Given the description of an element on the screen output the (x, y) to click on. 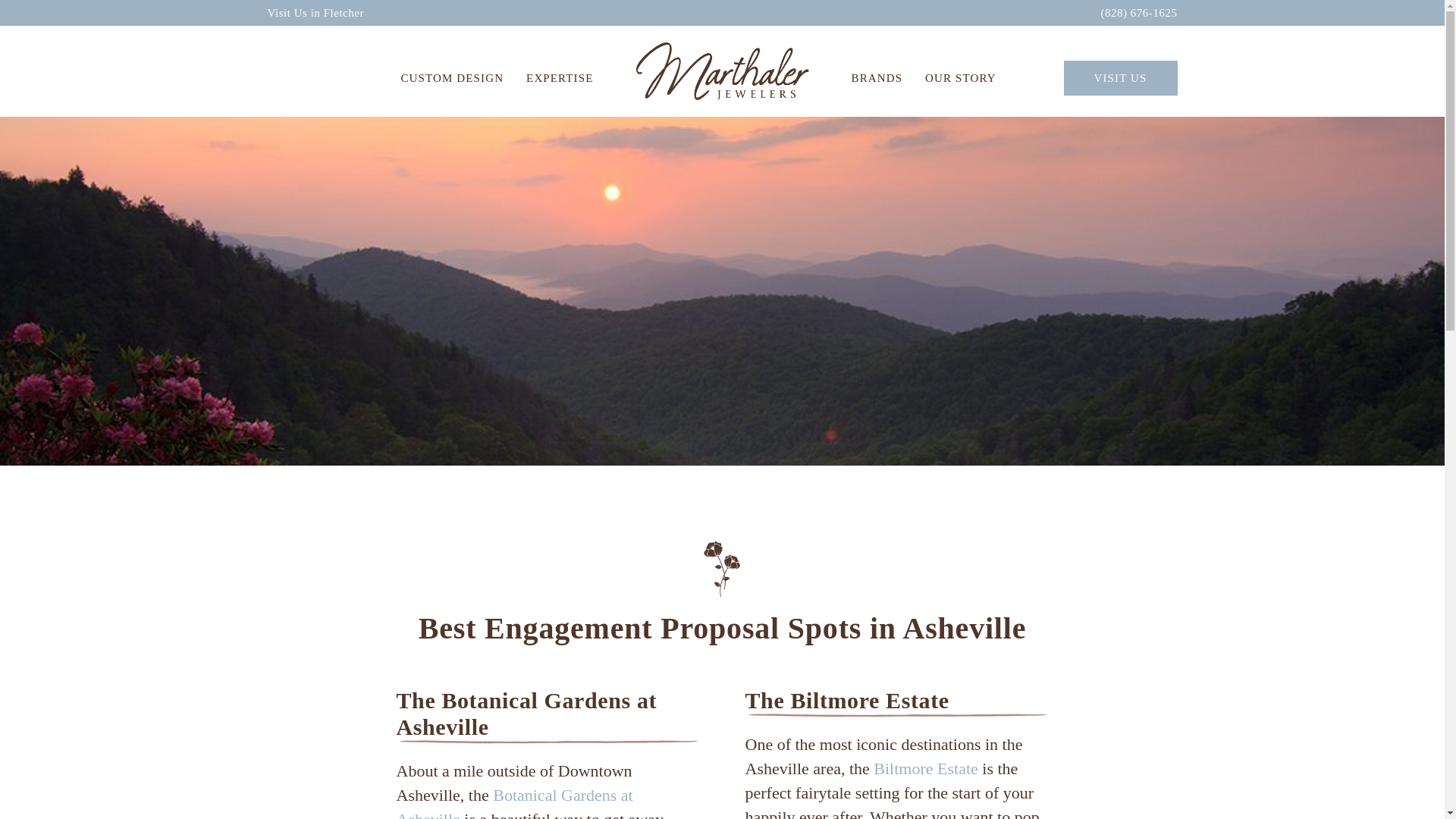
EXPERTISE (559, 77)
VISIT US (1119, 77)
Biltmore Estate (924, 768)
CUSTOM DESIGN (451, 77)
OUR STORY (960, 77)
Botanical Gardens at Asheville (513, 802)
BRANDS (877, 77)
Visit Us in Fletcher (315, 12)
